Given the description of an element on the screen output the (x, y) to click on. 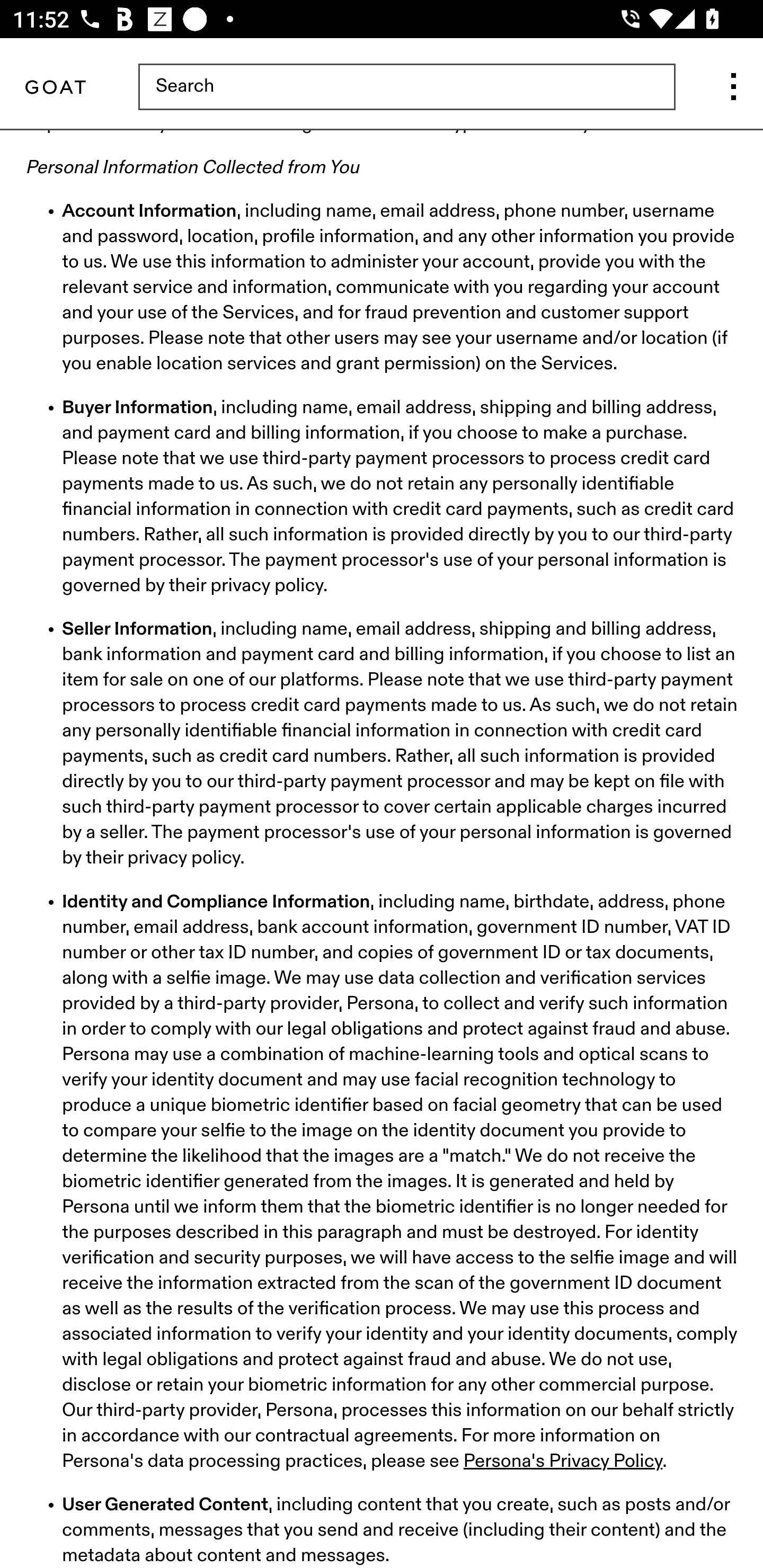
Search (406, 87)
menu (733, 87)
Goat Logo (55, 87)
Persona’s Privacy Policy (562, 1461)
